Given the description of an element on the screen output the (x, y) to click on. 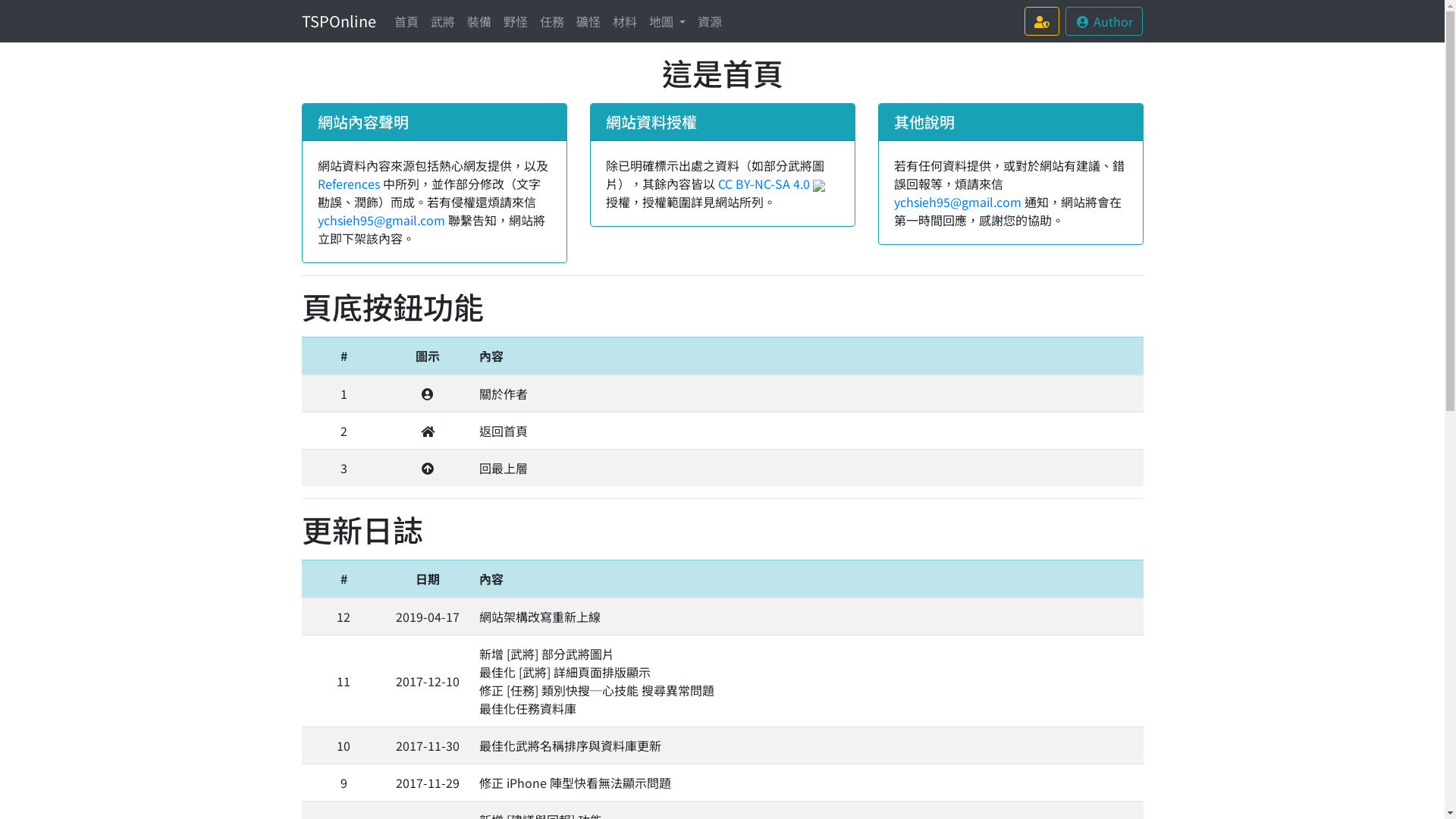
CC BY-NC-SA 4.0 Element type: text (770, 183)
ychsieh95@gmail.com Element type: text (956, 201)
Author Element type: text (1103, 20)
References Element type: text (347, 183)
ychsieh95@gmail.com Element type: text (380, 219)
TSPOnline Element type: text (338, 21)
